Given the description of an element on the screen output the (x, y) to click on. 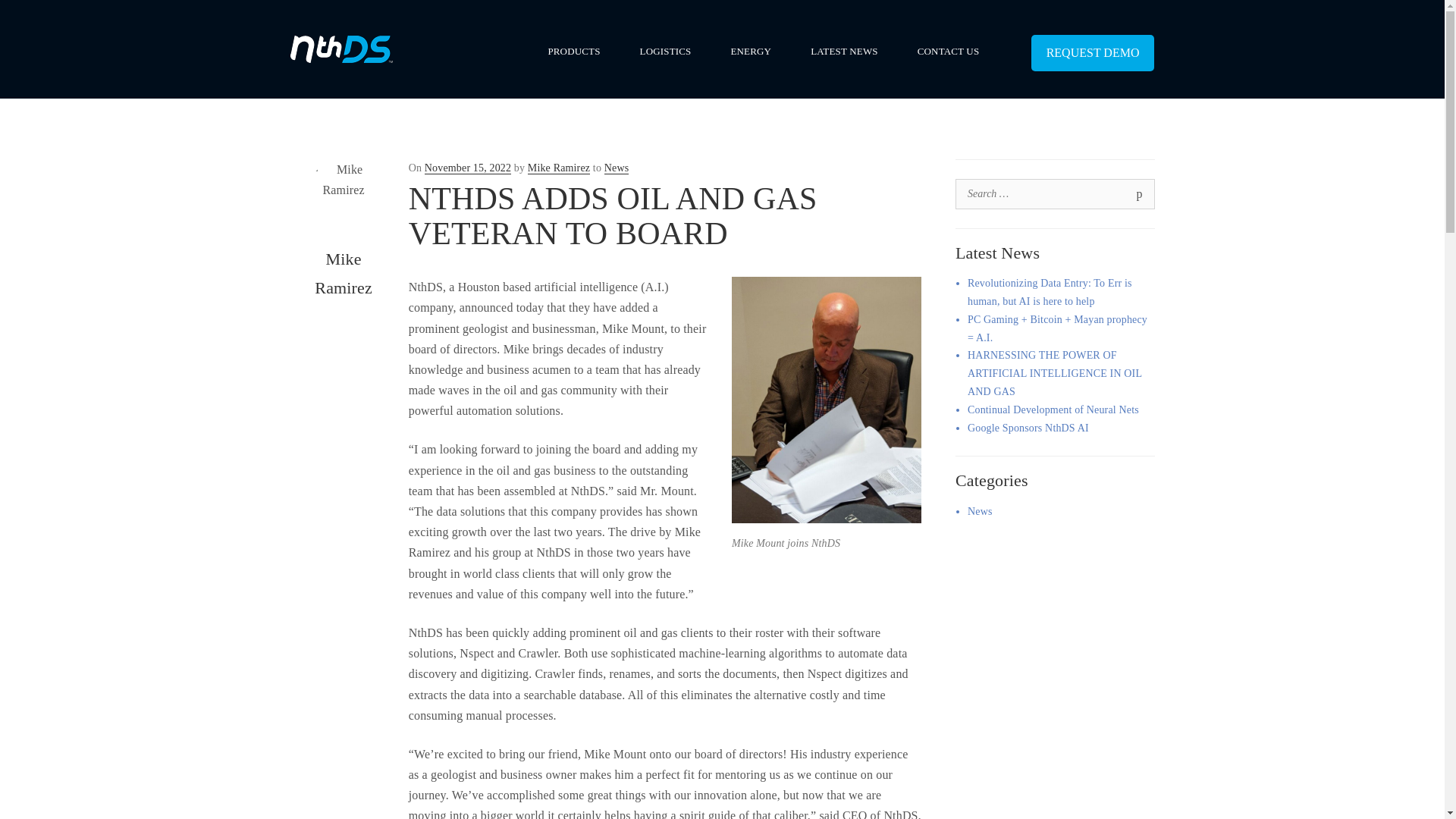
LOGISTICS (665, 50)
ENERGY (750, 50)
LATEST NEWS (844, 50)
News (980, 511)
CONTACT US (948, 50)
REQUEST DEMO (1092, 53)
Mike Ramirez (558, 168)
Google Sponsors NthDS AI (1028, 428)
NthDS (340, 49)
